Given the description of an element on the screen output the (x, y) to click on. 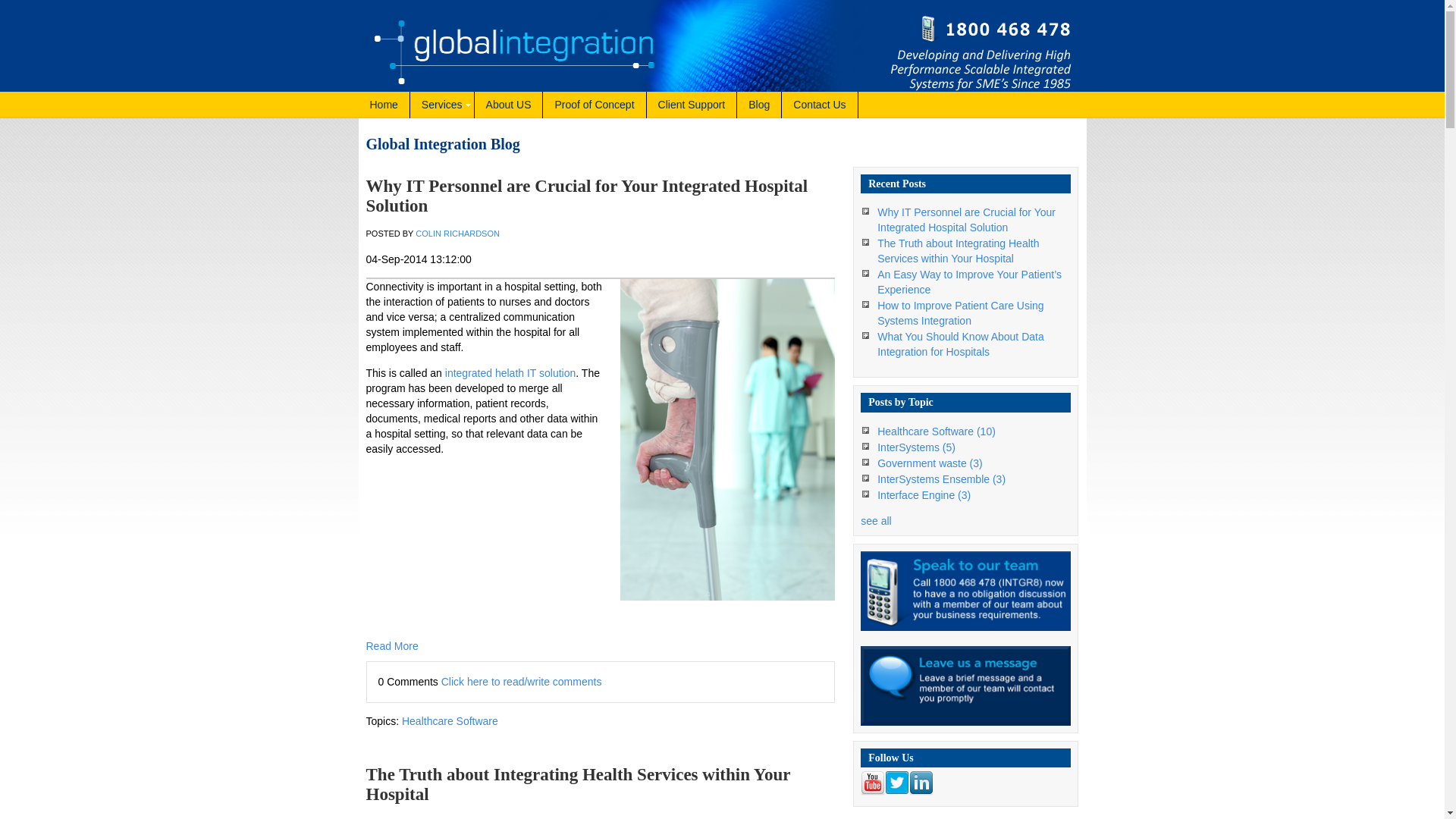
About US Element type: text (508, 104)
Blog Element type: text (759, 104)
Home Element type: text (383, 104)
Interface Engine (3) Element type: text (923, 495)
Government waste (3) Element type: text (929, 463)
see all Element type: text (875, 520)
integrated helath IT solution Element type: text (510, 373)
COLIN RICHARDSON Element type: text (457, 233)
Follow us on Linkedin Element type: hover (921, 783)
InterSystems (5) Element type: text (916, 447)
Healthcare Software (10) Element type: text (936, 431)
Click here to read/write comments Element type: text (521, 681)
How to Improve Patient Care Using Systems Integration Element type: text (960, 312)
Follow us on Twitter Element type: hover (896, 783)
Proof of Concept Element type: text (594, 104)
Healthcare Software Element type: text (449, 721)
Services Element type: text (442, 104)
Contact Us Element type: text (819, 104)
Follow us on YouTube Element type: hover (872, 783)
InterSystems Ensemble (3) Element type: text (941, 479)
What You Should Know About Data Integration for Hospitals Element type: text (960, 343)
Read More Element type: text (599, 645)
Client Support Element type: text (691, 104)
